Given the description of an element on the screen output the (x, y) to click on. 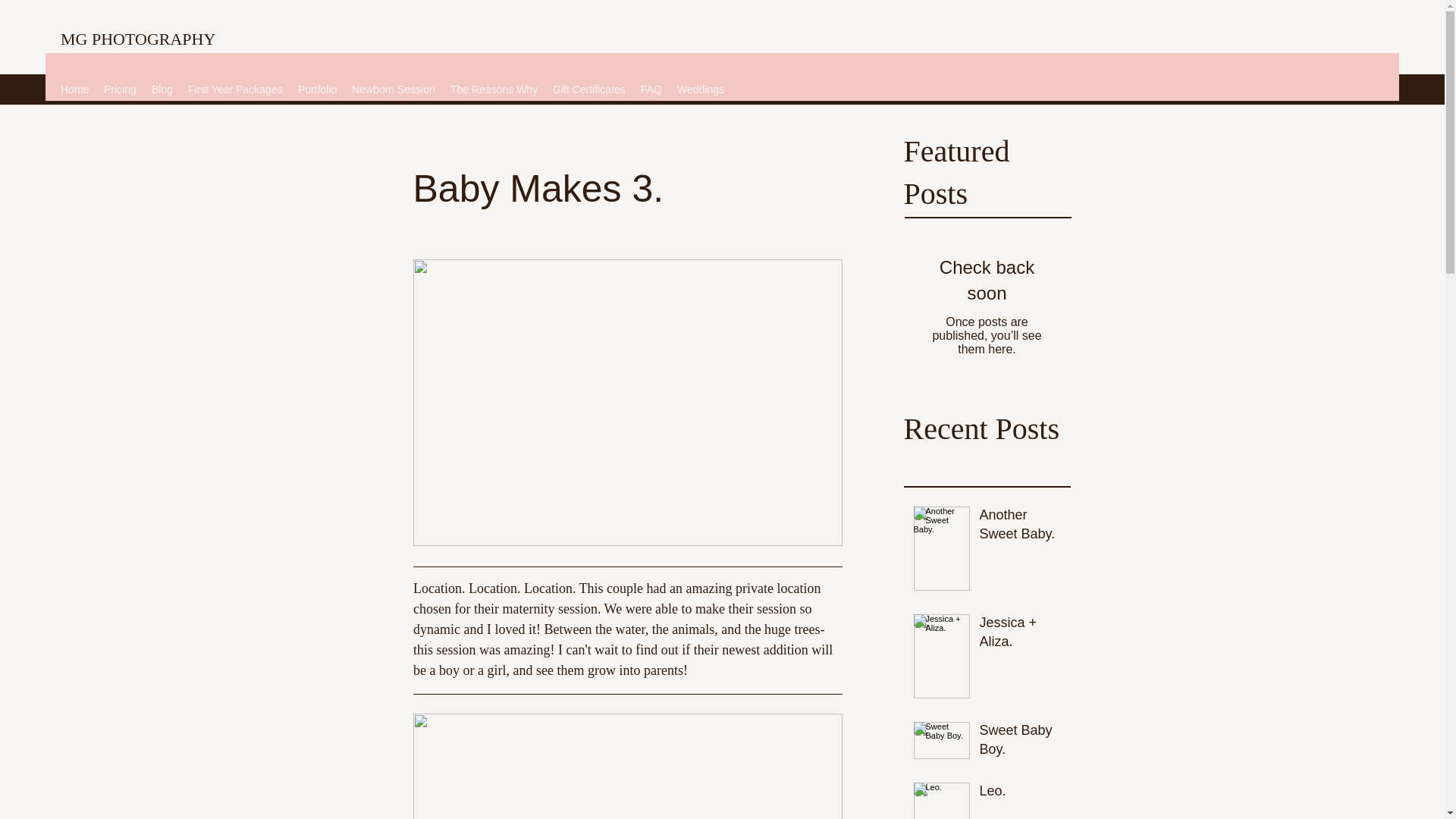
Pricing (120, 88)
First Year Packages (234, 88)
Sweet Baby Boy. (1020, 742)
FAQ (651, 88)
Weddings (700, 88)
Leo. (1020, 794)
The Reasons Why (493, 88)
Gift Certificates (588, 88)
Newborn Session (392, 88)
MG PHOTOGRAPHY (138, 38)
